Given the description of an element on the screen output the (x, y) to click on. 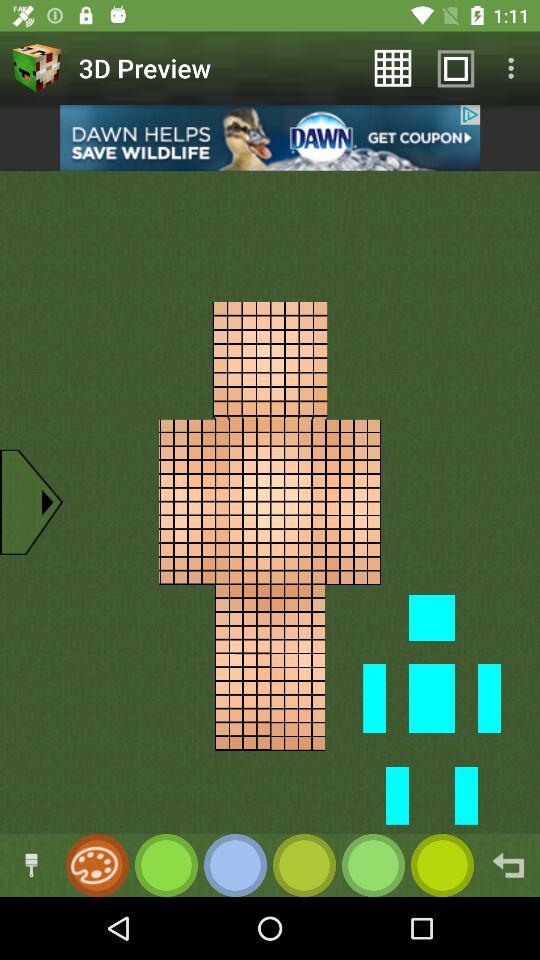
the painting is needed (94, 865)
